Given the description of an element on the screen output the (x, y) to click on. 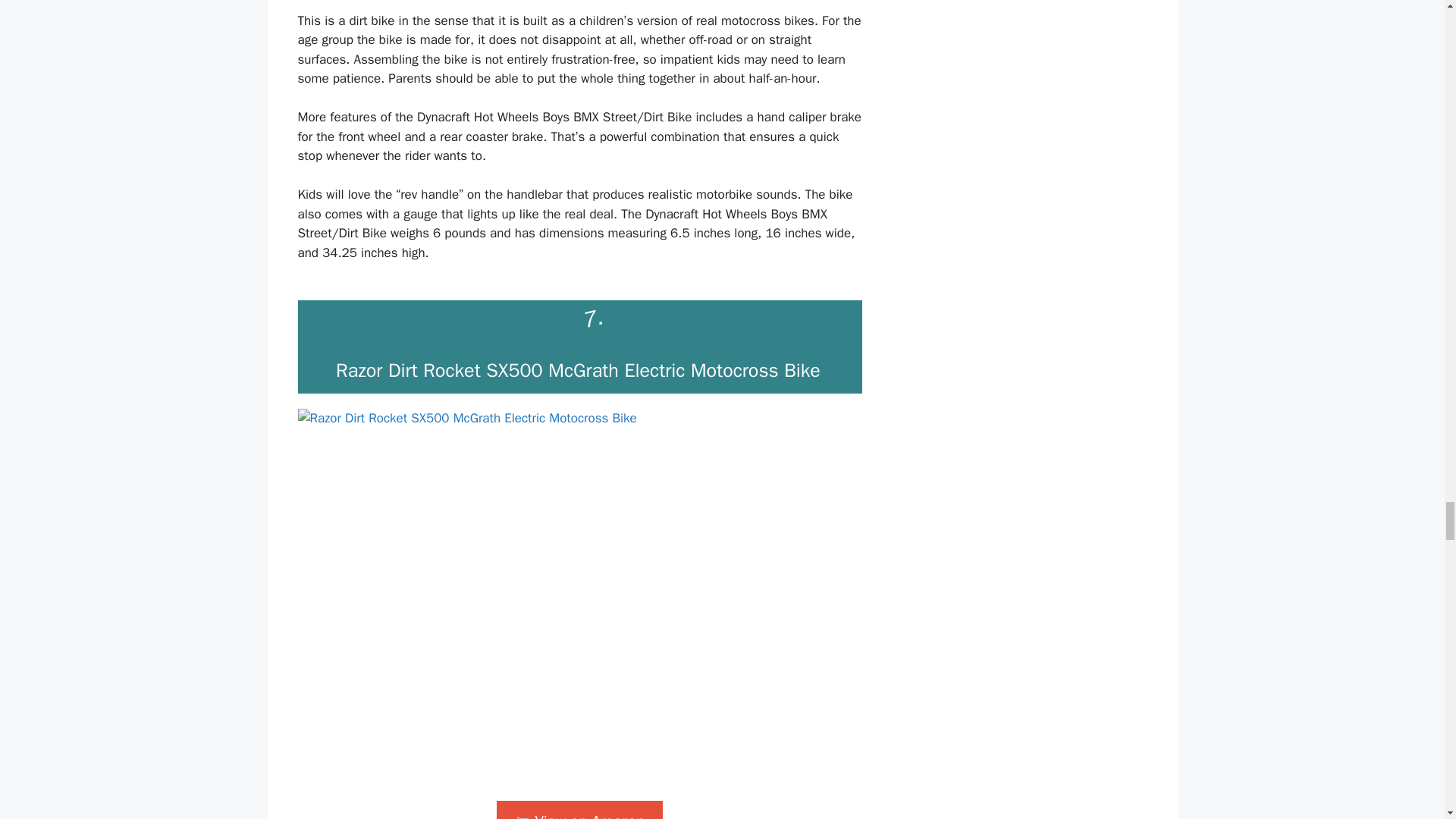
Razor Dirt Rocket SX500 McGrath Electric Motocross Bike (578, 370)
View on Amazon (579, 809)
